Given the description of an element on the screen output the (x, y) to click on. 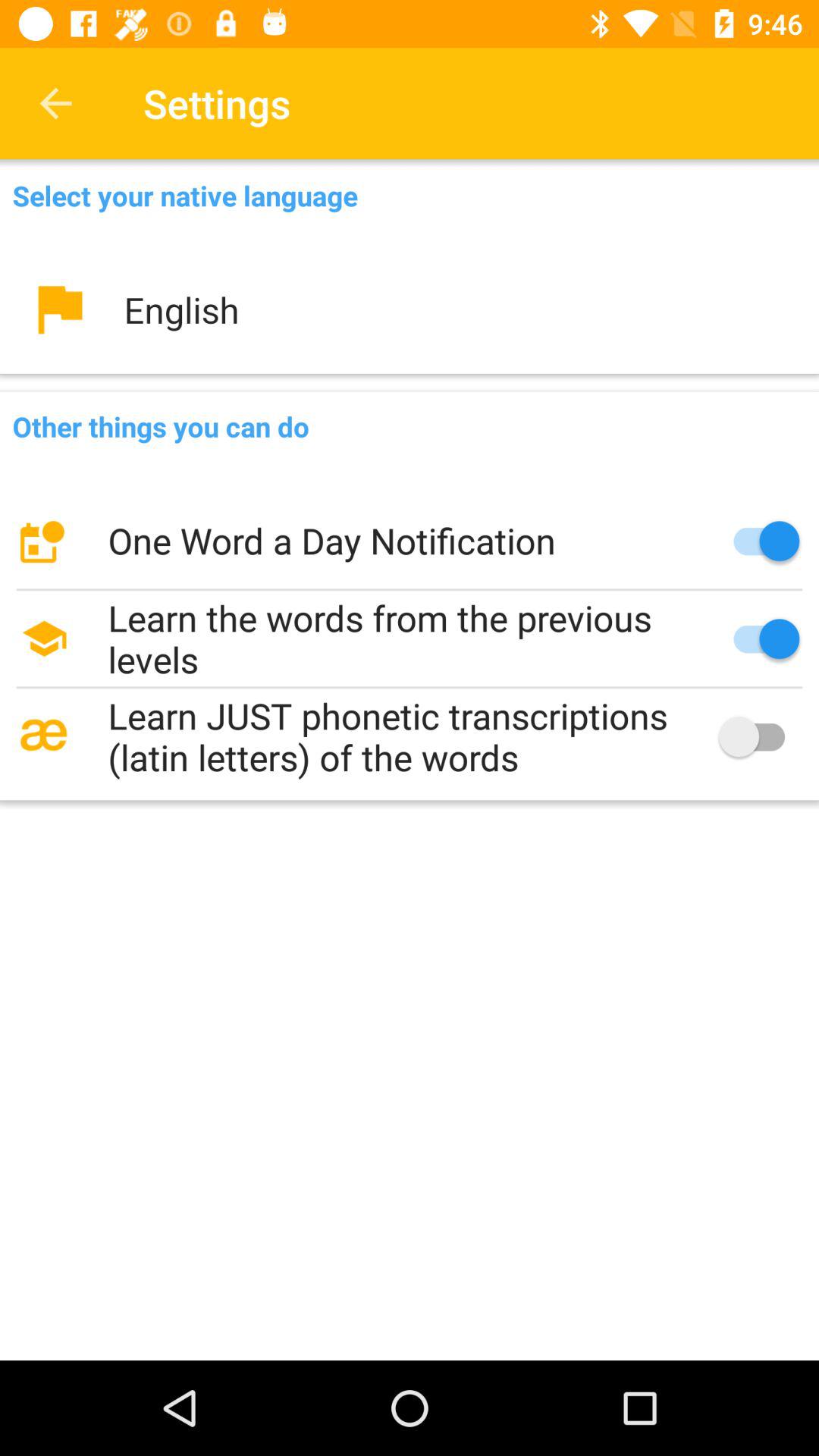
choose icon next to the settings item (55, 103)
